Given the description of an element on the screen output the (x, y) to click on. 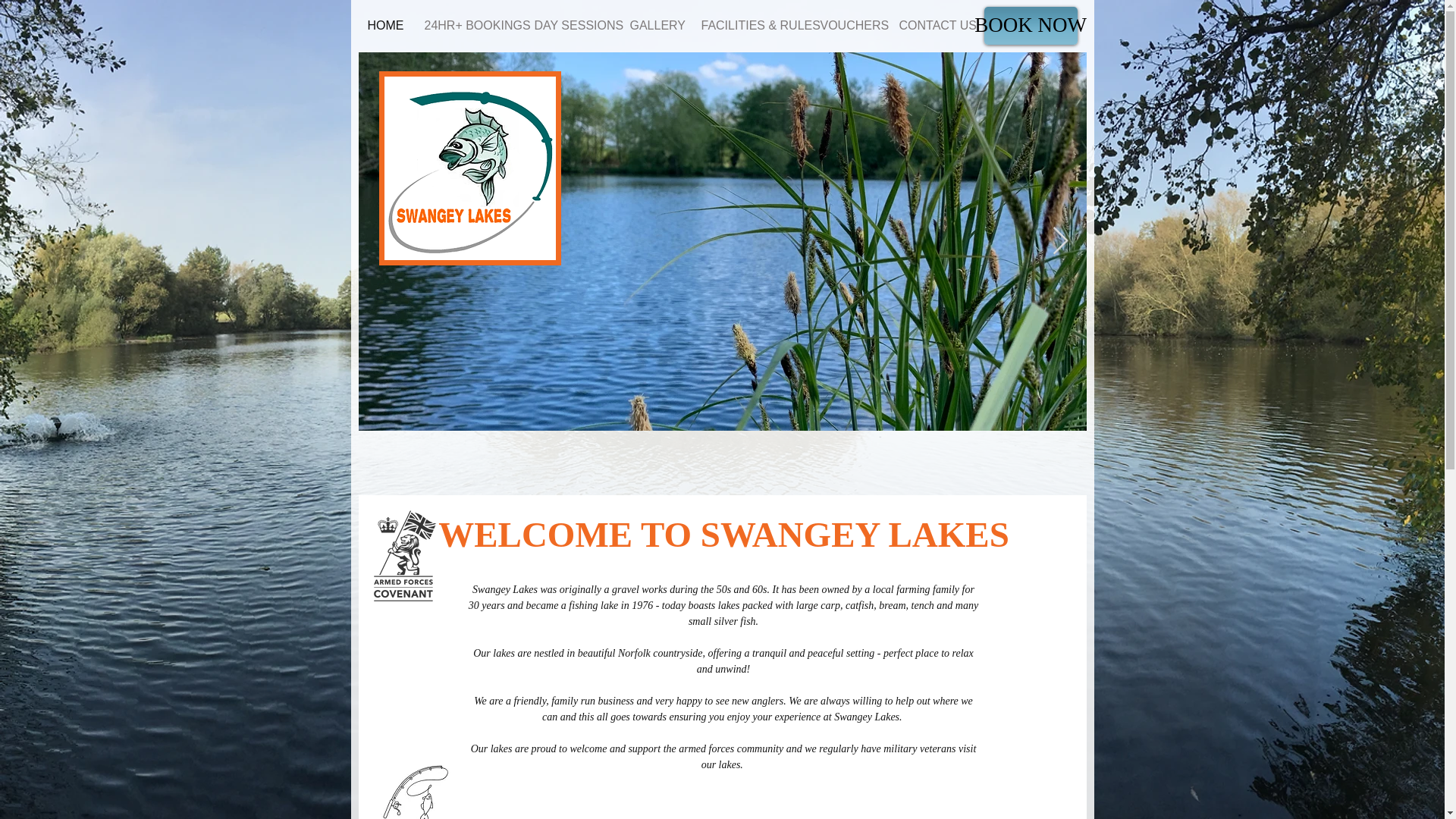
GALLERY (652, 25)
DAY SESSIONS (569, 25)
HOME (384, 25)
CONTACT US (930, 25)
VOUCHERS (847, 25)
BOOK NOW (1030, 25)
